Given the description of an element on the screen output the (x, y) to click on. 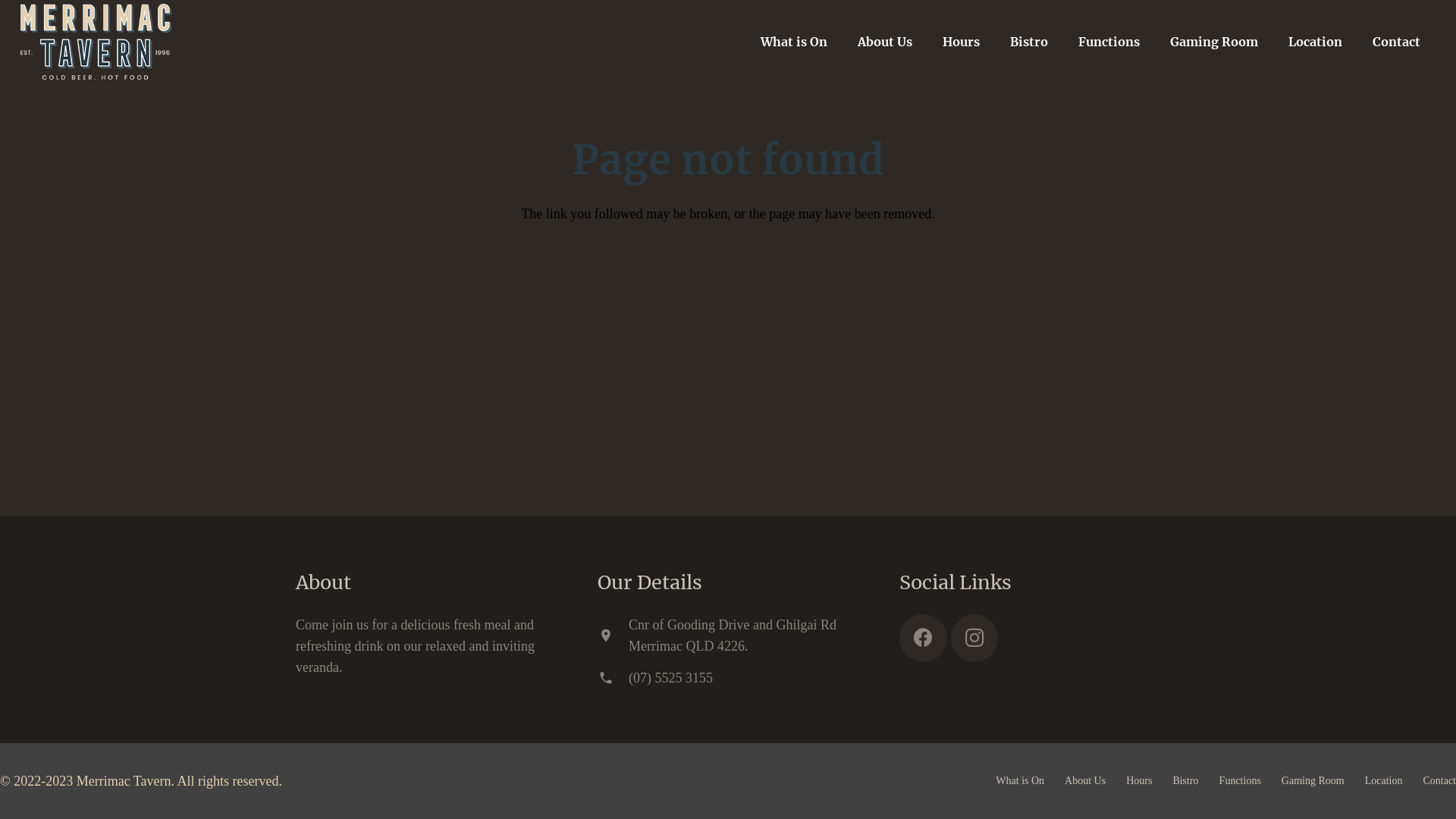
Location Element type: text (1383, 780)
Gaming Room Element type: text (1312, 780)
Hours Element type: text (960, 41)
About Us Element type: text (884, 41)
Functions Element type: text (1240, 780)
Functions Element type: text (1108, 41)
Hours Element type: text (1138, 780)
What is On Element type: text (1019, 780)
Facebook Element type: hover (923, 638)
Bistro Element type: text (1185, 780)
About Us Element type: text (1084, 780)
Gaming Room Element type: text (1213, 41)
Bistro Element type: text (1028, 41)
Location Element type: text (1315, 41)
What is On Element type: text (793, 41)
Instagram Element type: hover (974, 638)
Contact Element type: text (1396, 41)
